Given the description of an element on the screen output the (x, y) to click on. 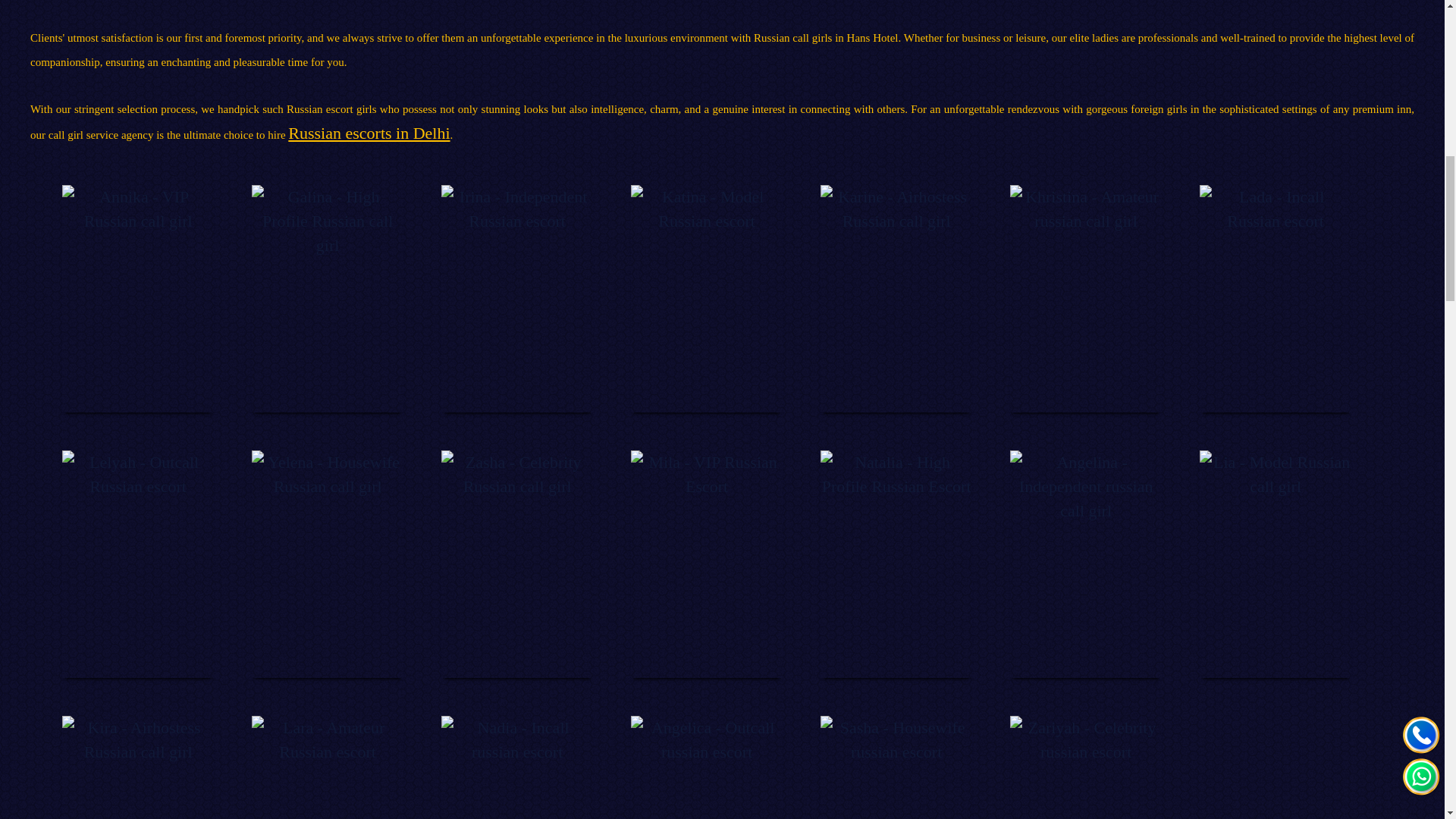
View (139, 805)
View (708, 284)
Russian escorts in Delhi (368, 132)
View (1087, 284)
View (898, 549)
View (519, 805)
View (139, 549)
View (708, 549)
View (329, 805)
View (1087, 805)
